Given the description of an element on the screen output the (x, y) to click on. 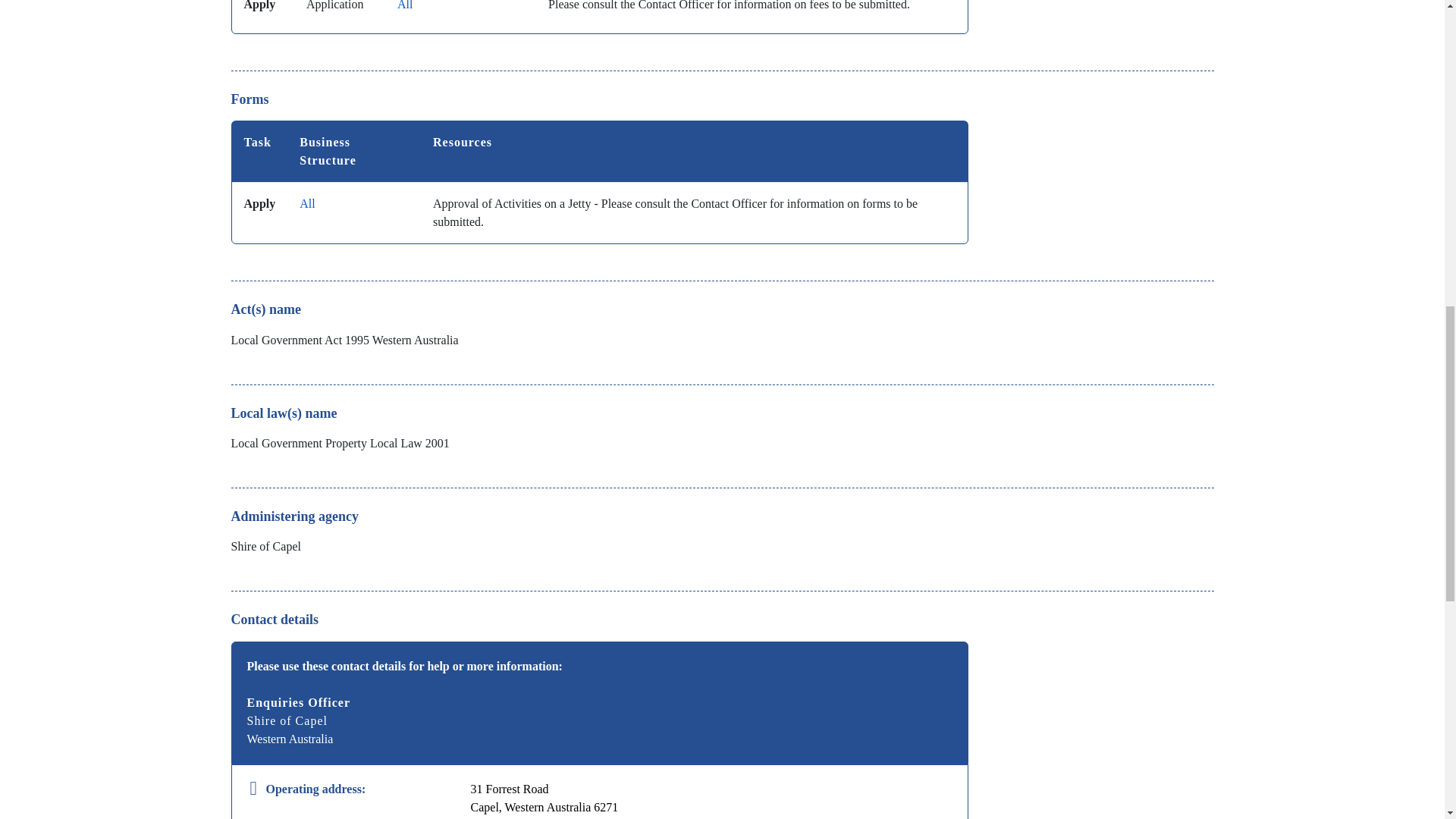
All (404, 5)
Contact Details for this service (599, 730)
Fees for this service (599, 17)
All (306, 203)
Form resources for this service (599, 182)
